Given the description of an element on the screen output the (x, y) to click on. 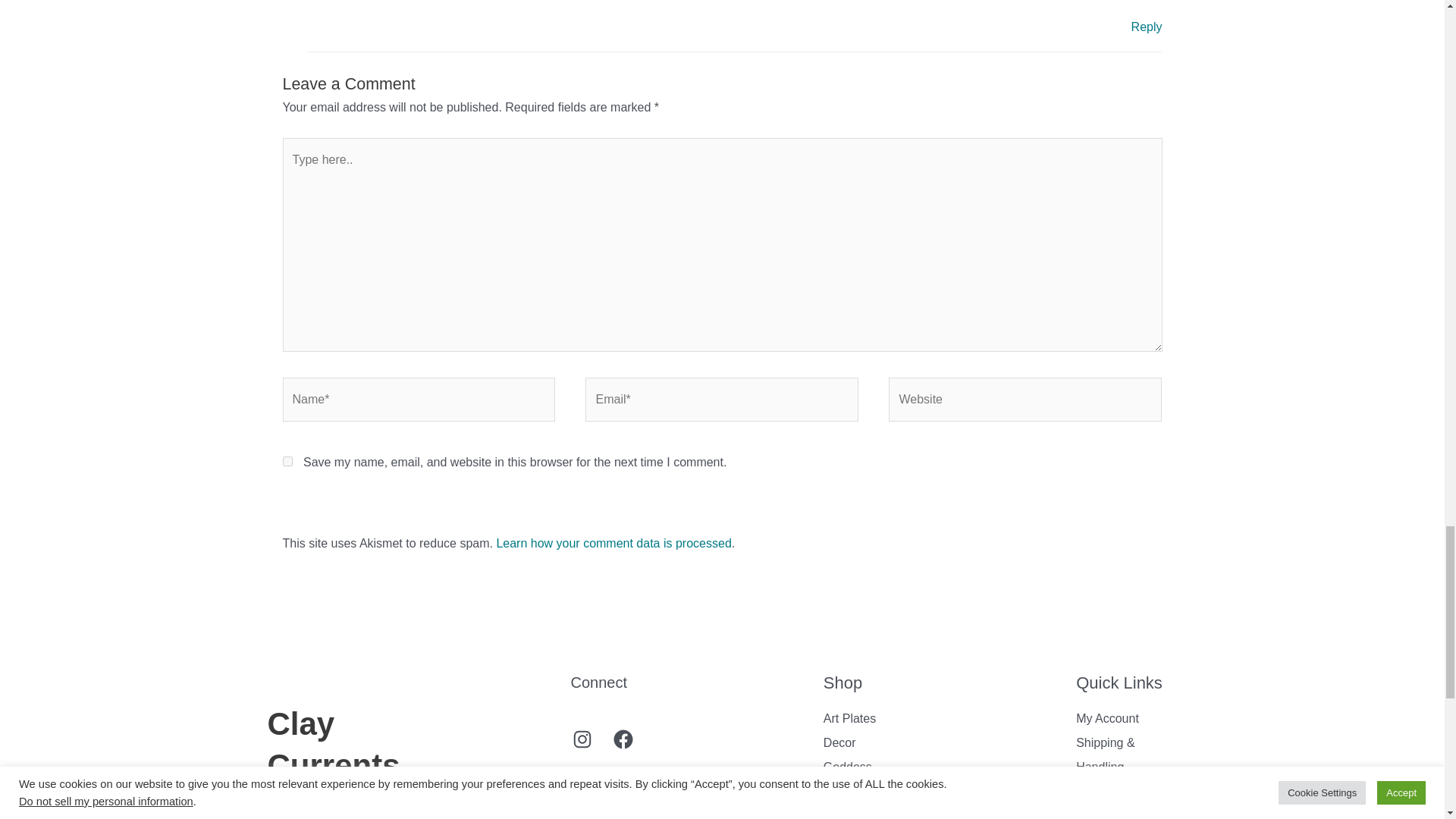
yes (287, 461)
